Given the description of an element on the screen output the (x, y) to click on. 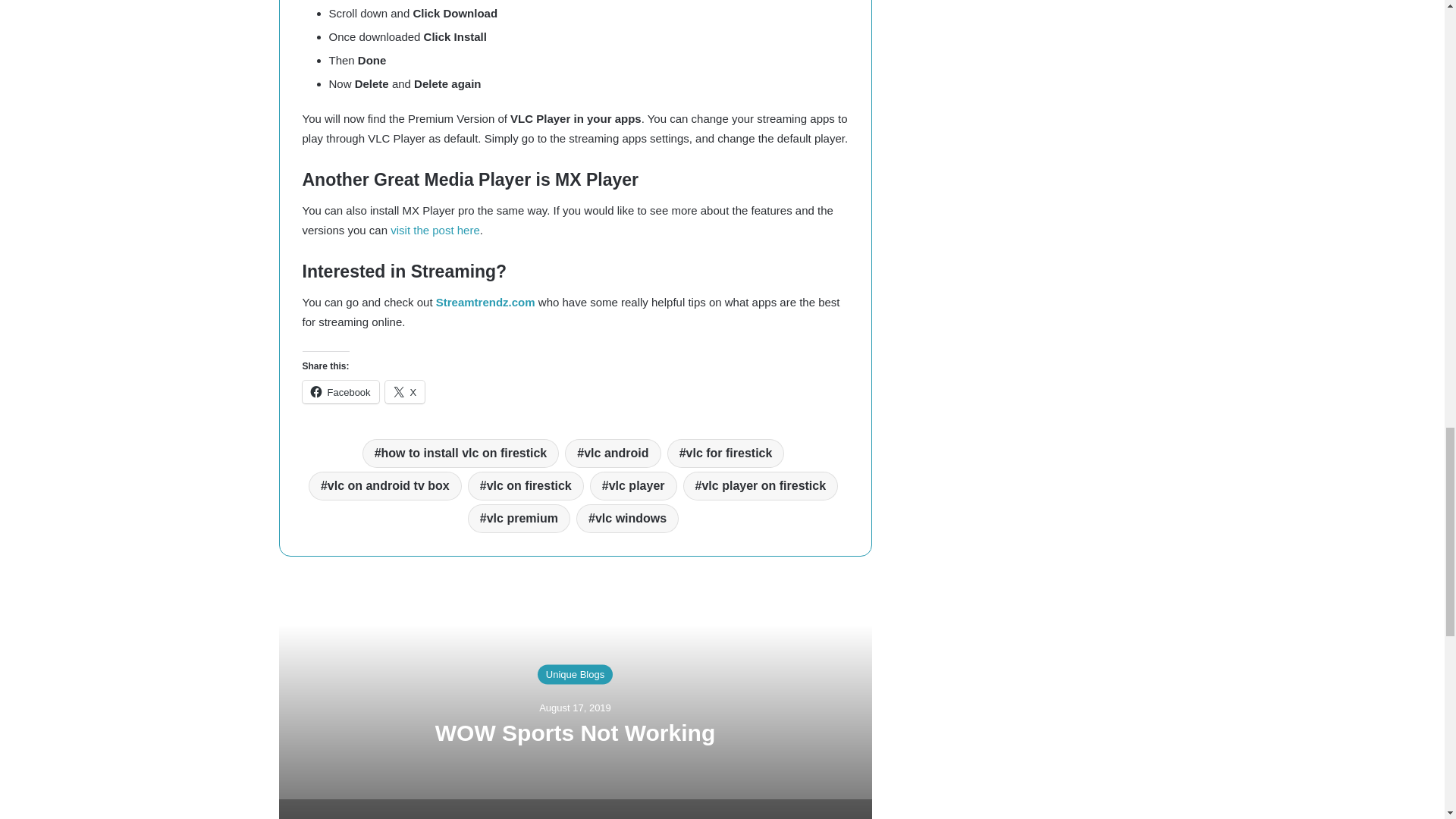
Click to share on X (405, 391)
visit the post here (435, 229)
Streamtrendz.com (485, 301)
vlc windows (627, 518)
vlc on android tv box (384, 485)
Facebook (339, 391)
Click to share on Facebook (339, 391)
vlc premium (518, 518)
vlc player on firestick (760, 485)
vlc player (633, 485)
